Given the description of an element on the screen output the (x, y) to click on. 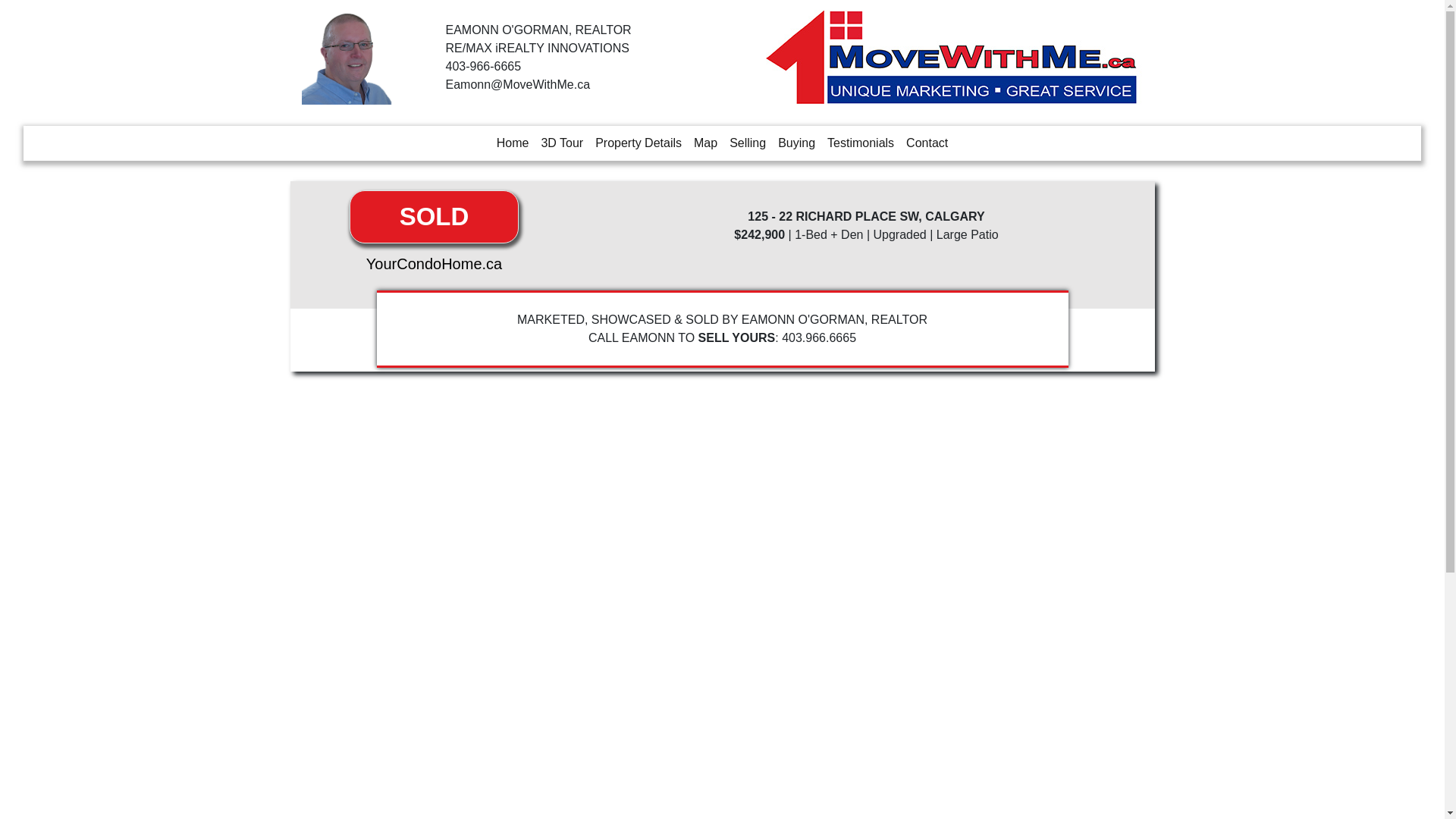
YourCondoHome.ca Element type: text (434, 263)
Property Details Element type: text (638, 143)
Buying Element type: text (796, 143)
SOLD Element type: text (433, 216)
Home Element type: text (512, 143)
Map Element type: text (705, 143)
Selling Element type: text (747, 143)
3D Tour Element type: text (561, 143)
Contact Element type: text (926, 143)
Testimonials Element type: text (860, 143)
